Given the description of an element on the screen output the (x, y) to click on. 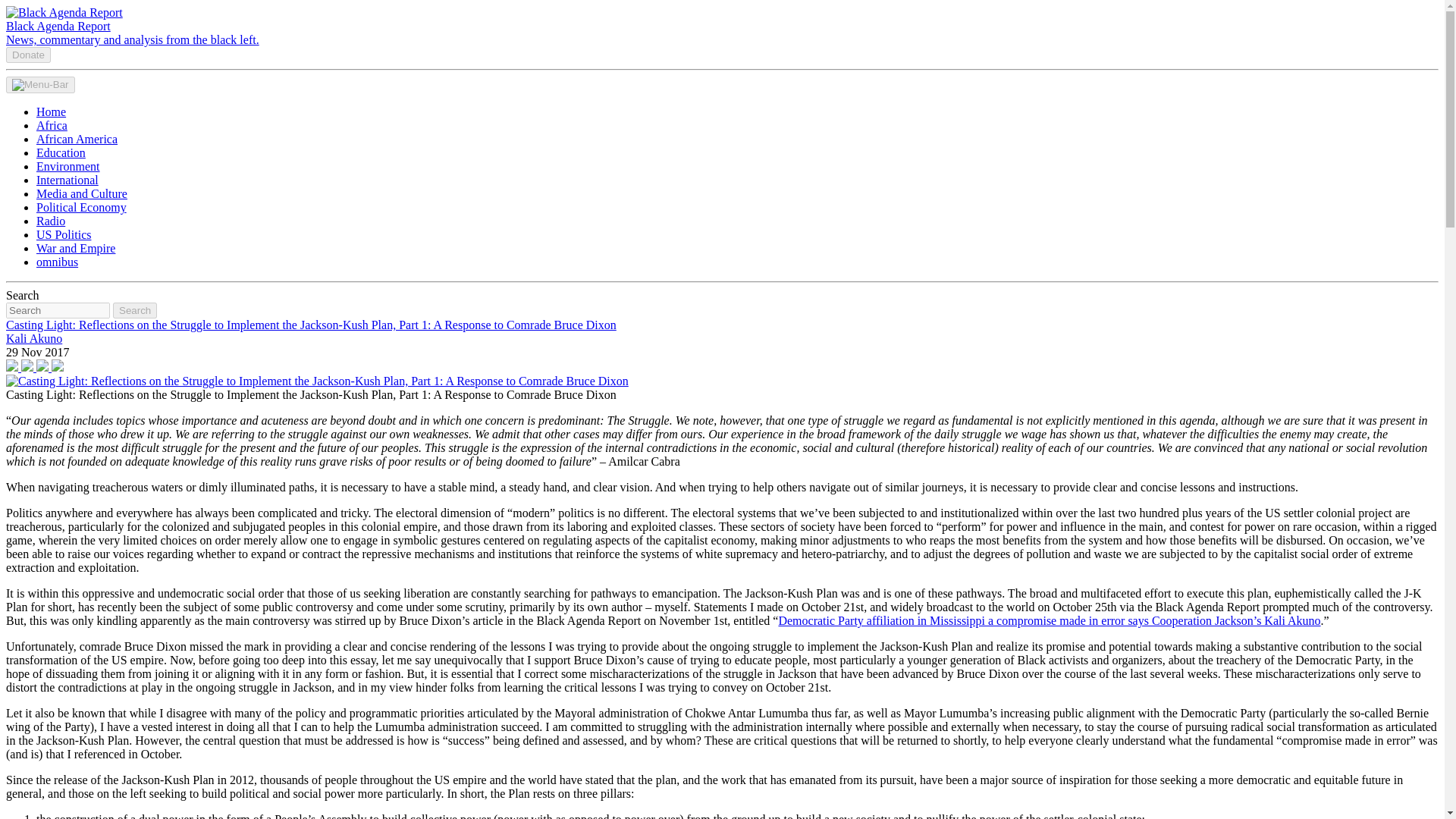
Political Economy (81, 206)
Kali Akuno (33, 338)
Media and Culture (82, 193)
Search (135, 310)
War and Empire (75, 247)
Donate (27, 54)
Donate (27, 53)
Education (60, 152)
International (67, 179)
Home (50, 111)
omnibus (57, 261)
Environment (68, 165)
African America (76, 138)
